Given the description of an element on the screen output the (x, y) to click on. 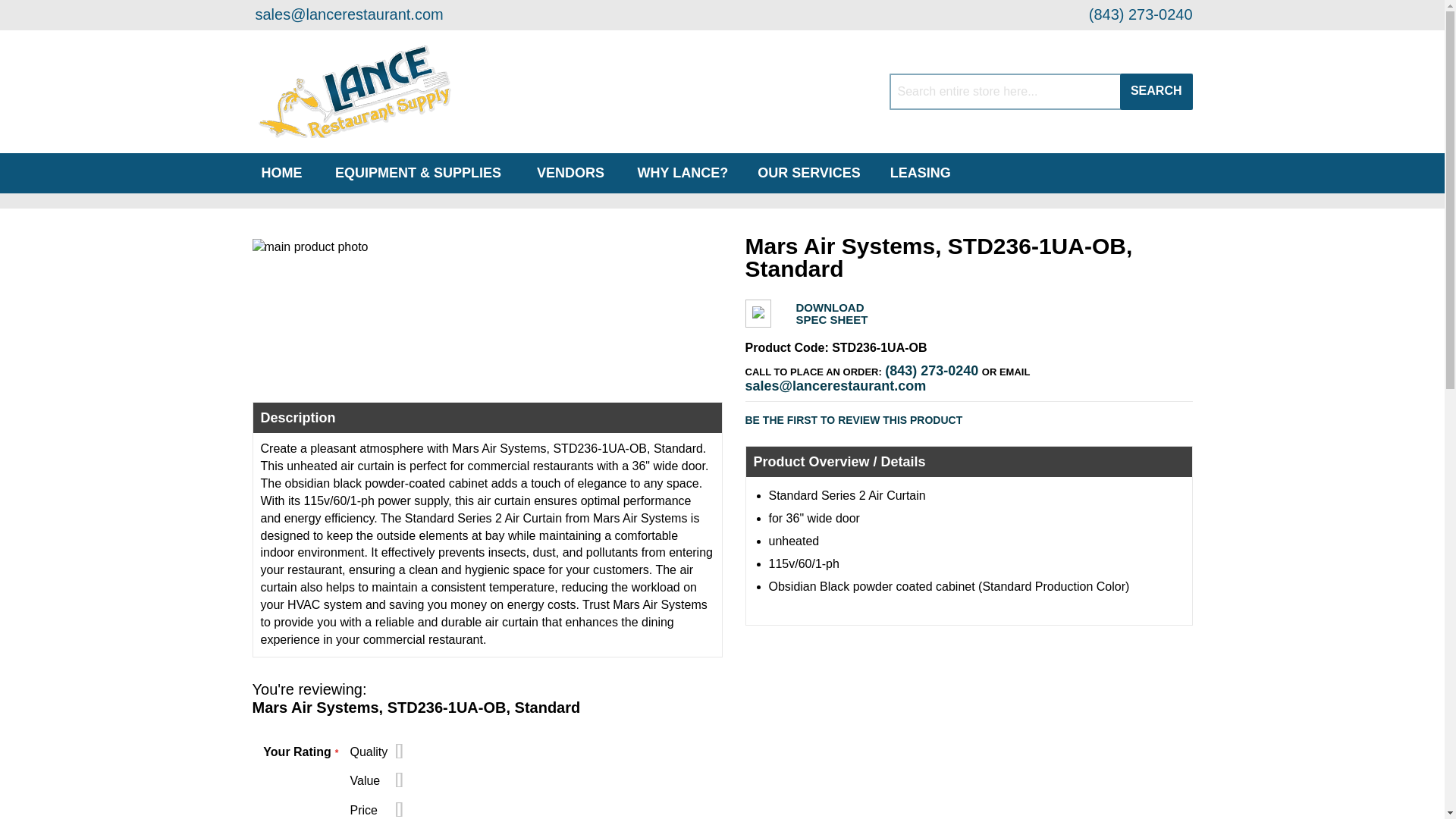
HOME (281, 173)
SEARCH (1155, 91)
